Given the description of an element on the screen output the (x, y) to click on. 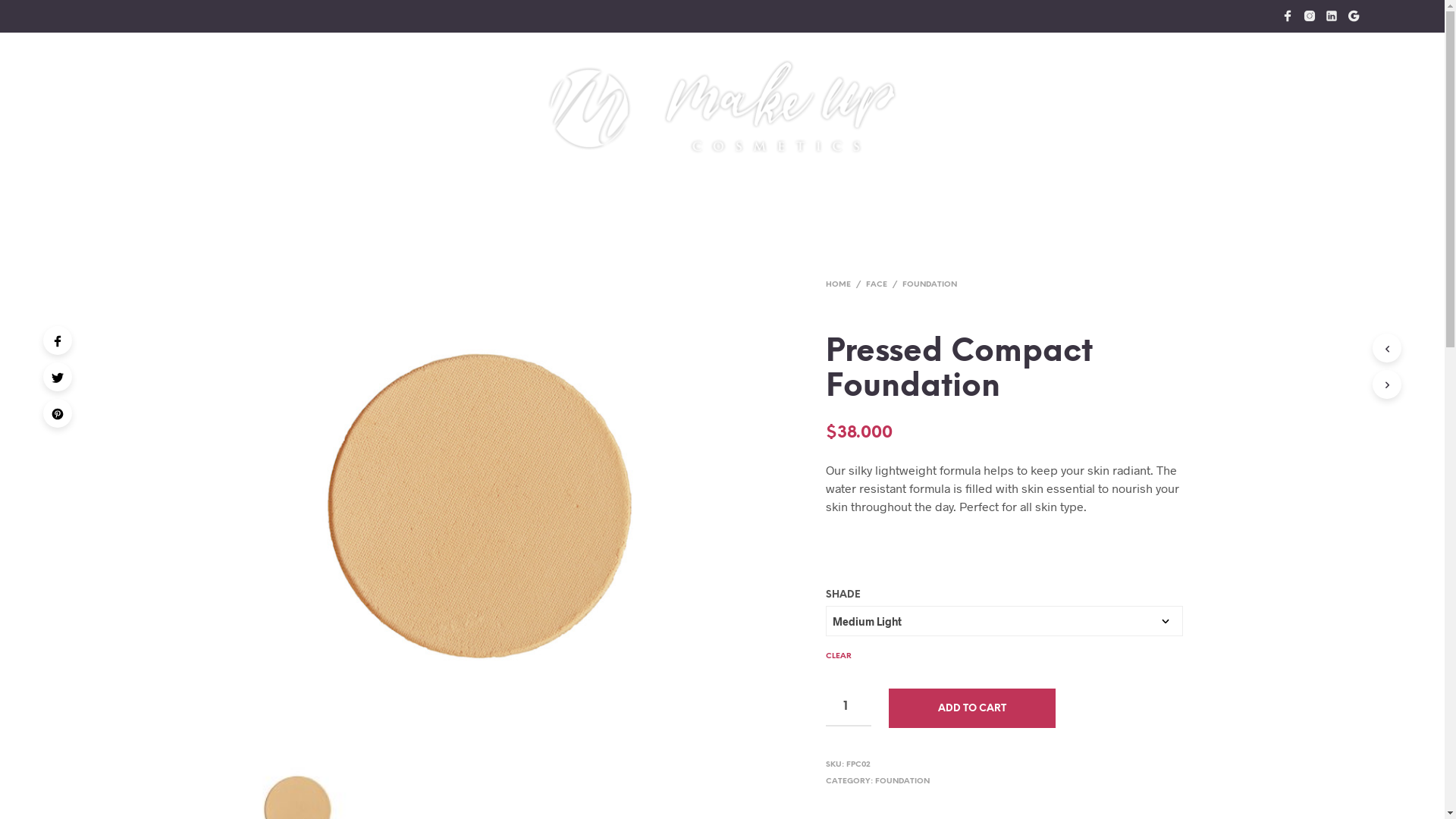
CLEAR Element type: text (838, 649)
Facebook Element type: hover (57, 340)
ADD TO CART Element type: text (971, 707)
0 Element type: text (1291, 61)
FOUNDATION Element type: text (929, 284)
SHOP Element type: text (525, 190)
HOME Element type: text (471, 190)
FACE Element type: text (876, 284)
Qty Element type: hover (848, 707)
ABOUT US & CONTACT Element type: text (933, 190)
FOUNDATION Element type: text (902, 781)
HOW TO CREATE YOUR MAKE UP BRAND Element type: text (675, 190)
HOME Element type: text (837, 284)
Pinterest Element type: hover (57, 412)
THE BLOG Element type: text (827, 190)
Twitter Element type: hover (57, 376)
